Given the description of an element on the screen output the (x, y) to click on. 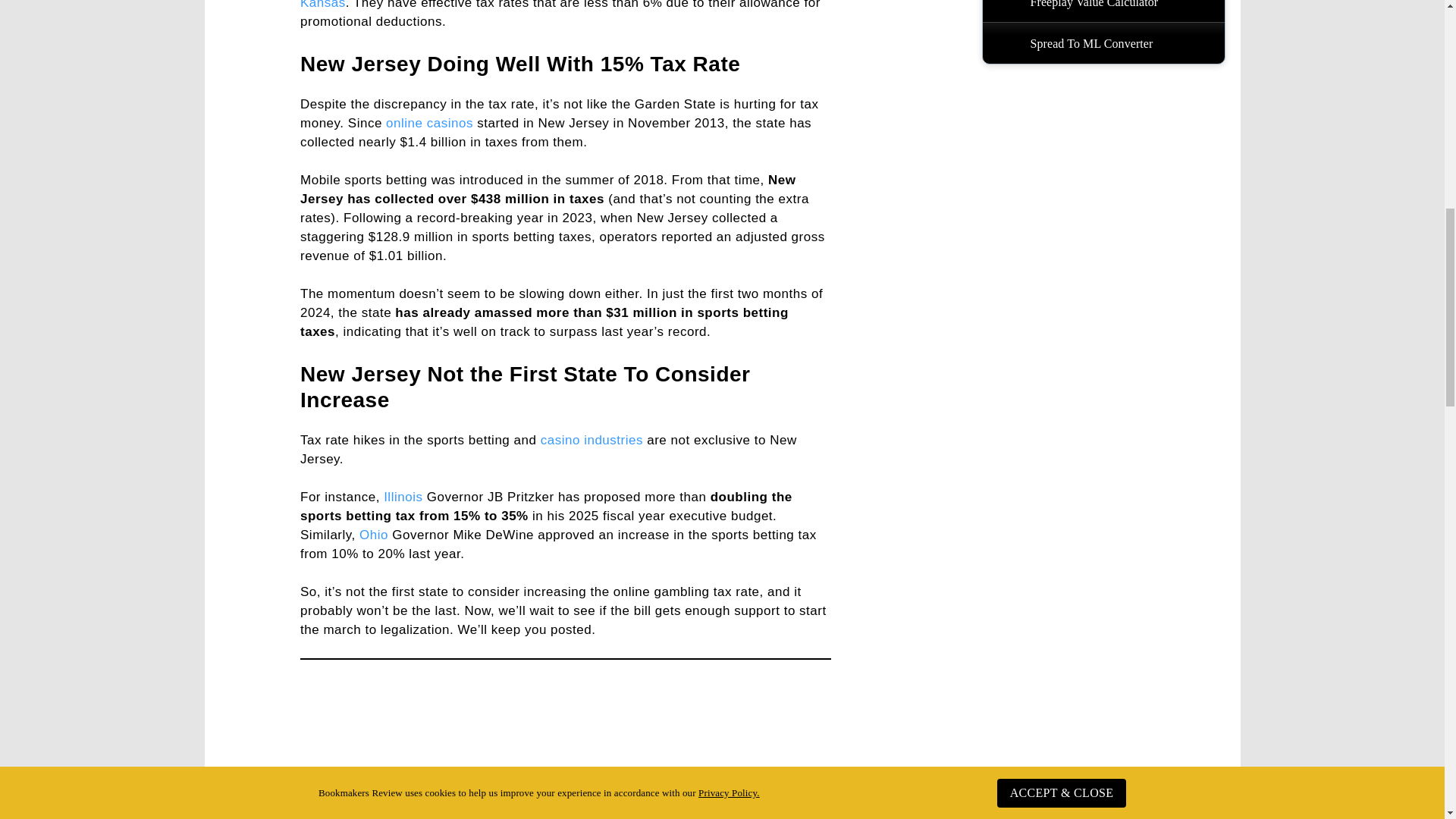
casino industries (591, 440)
Illinois (403, 496)
U.S. Map of Sports Betting (565, 743)
Kansas (322, 4)
Ohio (373, 534)
online casinos (429, 123)
